Given the description of an element on the screen output the (x, y) to click on. 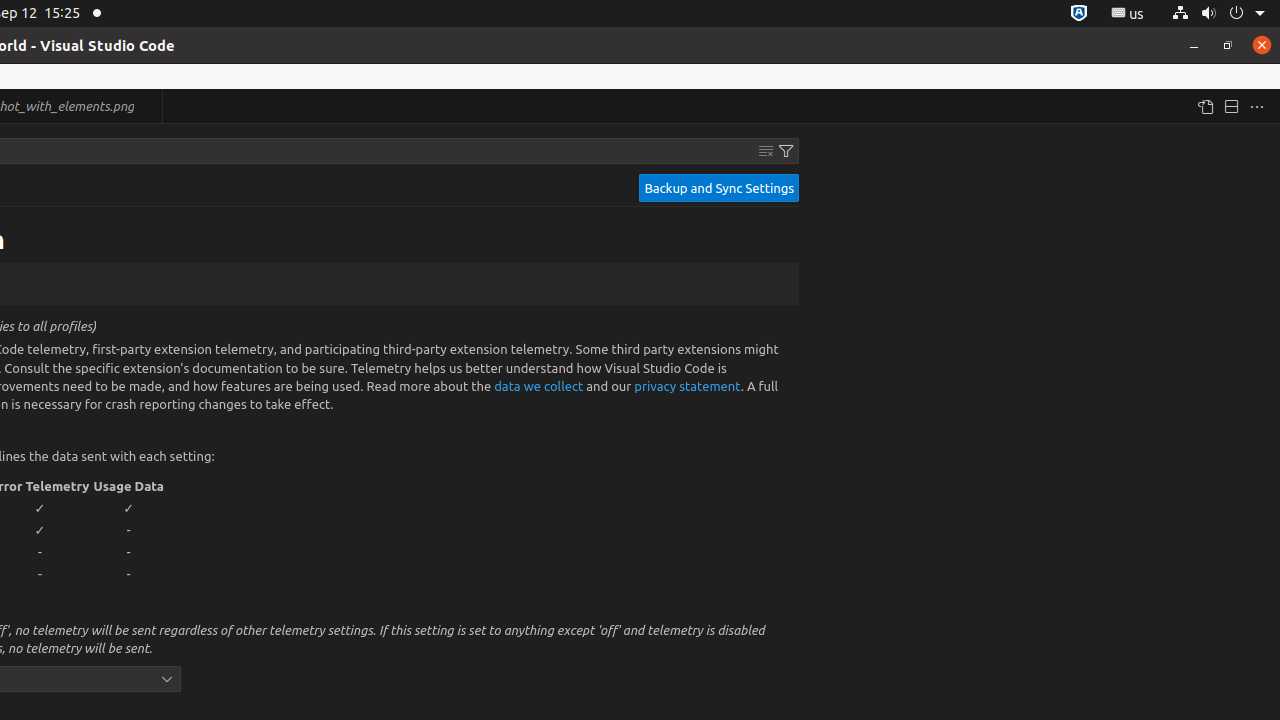
privacy statement Element type: link (687, 385)
More Actions... Element type: push-button (1257, 106)
Backup and Sync Settings Element type: push-button (719, 188)
Filter Settings Element type: push-button (786, 151)
